Given the description of an element on the screen output the (x, y) to click on. 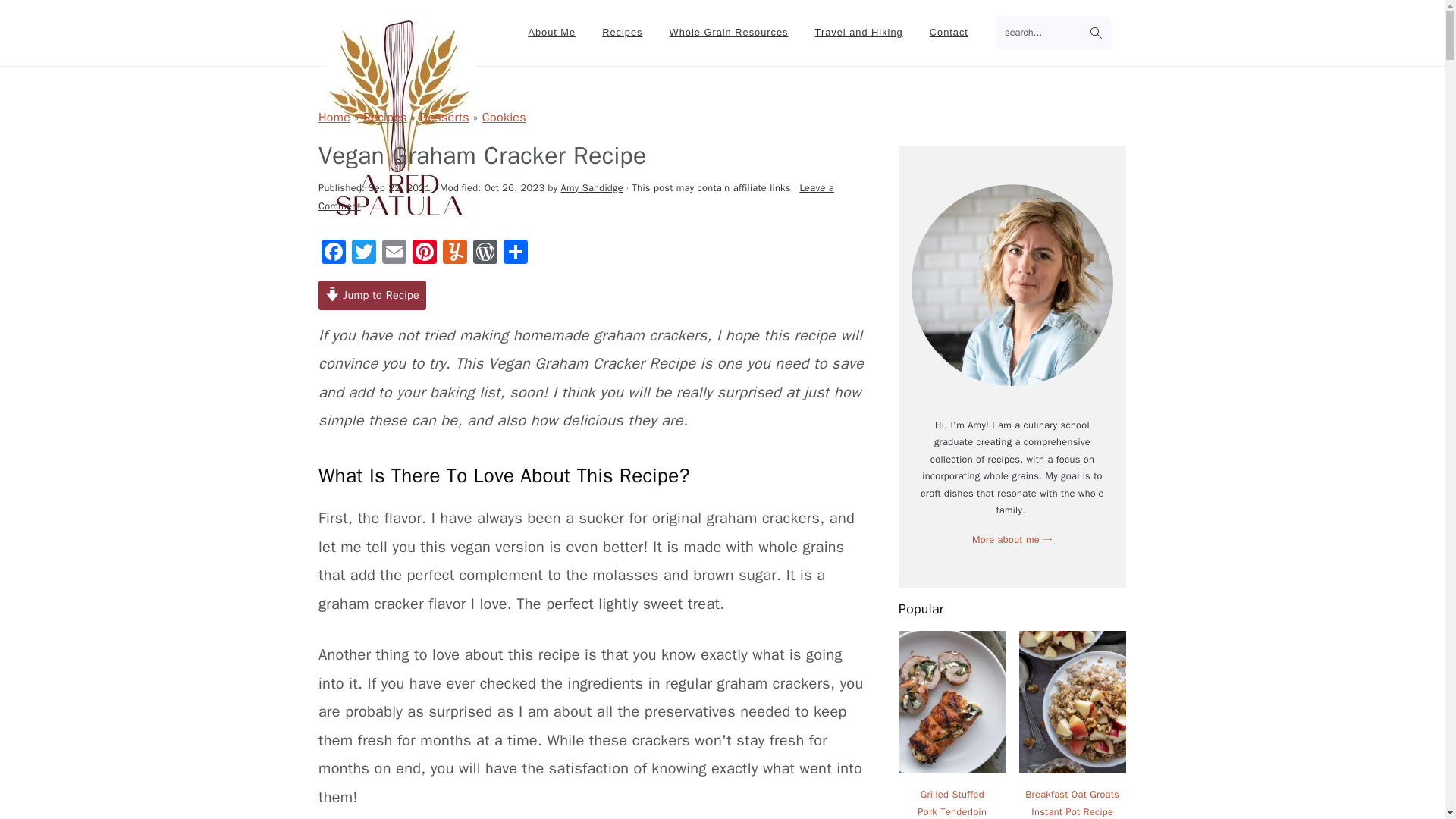
A Red Spatula (400, 208)
Facebook (333, 253)
WordPress (485, 253)
Twitter (363, 253)
Email (393, 253)
About Me (551, 32)
Recipes (622, 32)
Pinterest (424, 253)
Travel and Hiking (858, 32)
Contact (948, 32)
Whole Grain Resources (728, 32)
Yummly (454, 253)
